Given the description of an element on the screen output the (x, y) to click on. 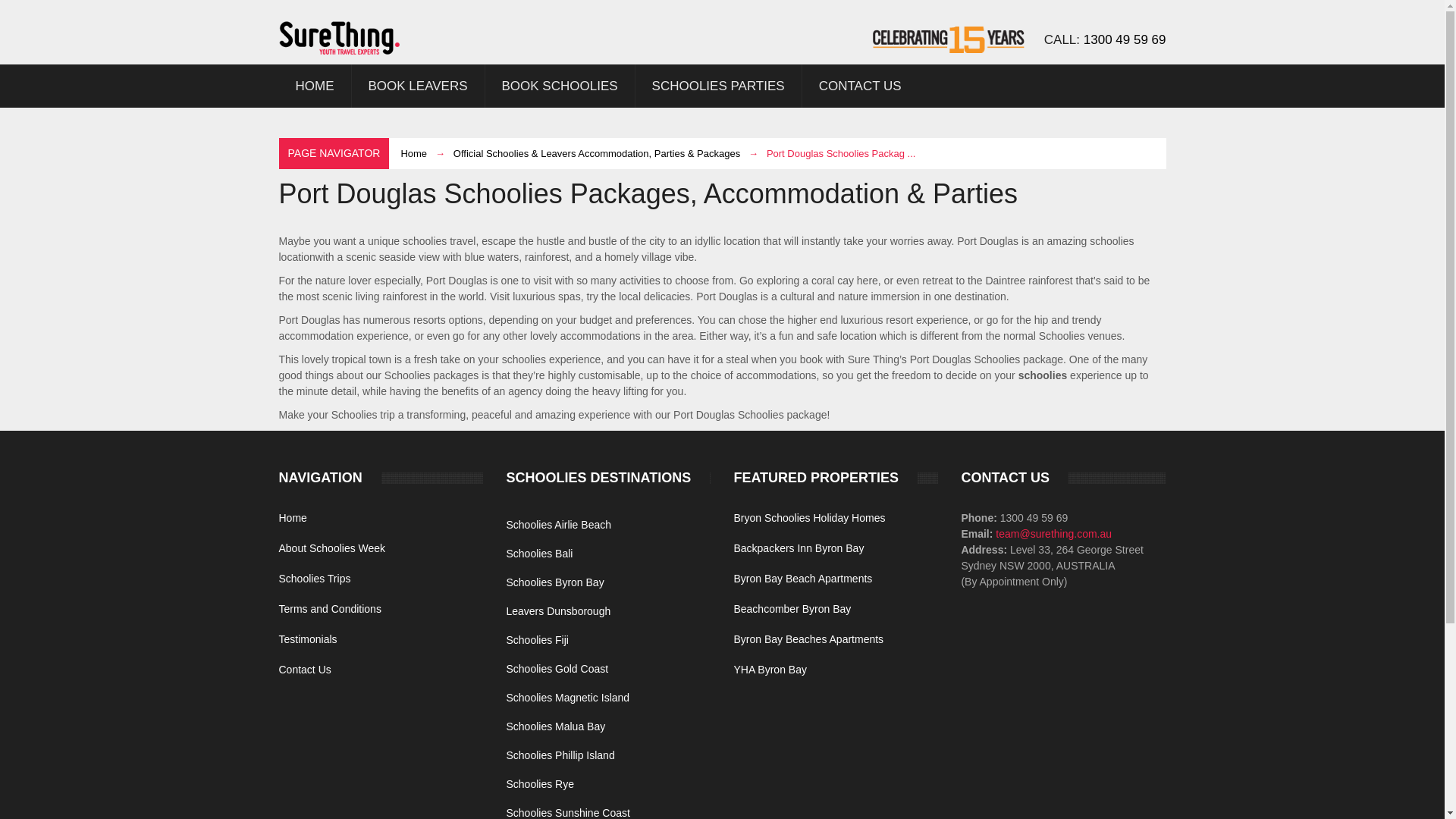
HOME (315, 85)
Schoolies Magnetic Island (566, 697)
SCHOOLIES PARTIES (718, 85)
Schoolies Phillip Island (559, 755)
BOOK SCHOOLIES (559, 85)
Bryon Schoolies Holiday Homes (809, 517)
Schoolies Airlie Beach (558, 524)
Home (293, 517)
Schoolies Byron Bay (554, 582)
Contact Us (305, 669)
BOOK LEAVERS (418, 85)
Schoolies Gold Coast (556, 668)
Beachcomber Byron Bay (791, 608)
Backpackers Inn Byron Bay (798, 548)
Schoolies Malua Bay (555, 726)
